Given the description of an element on the screen output the (x, y) to click on. 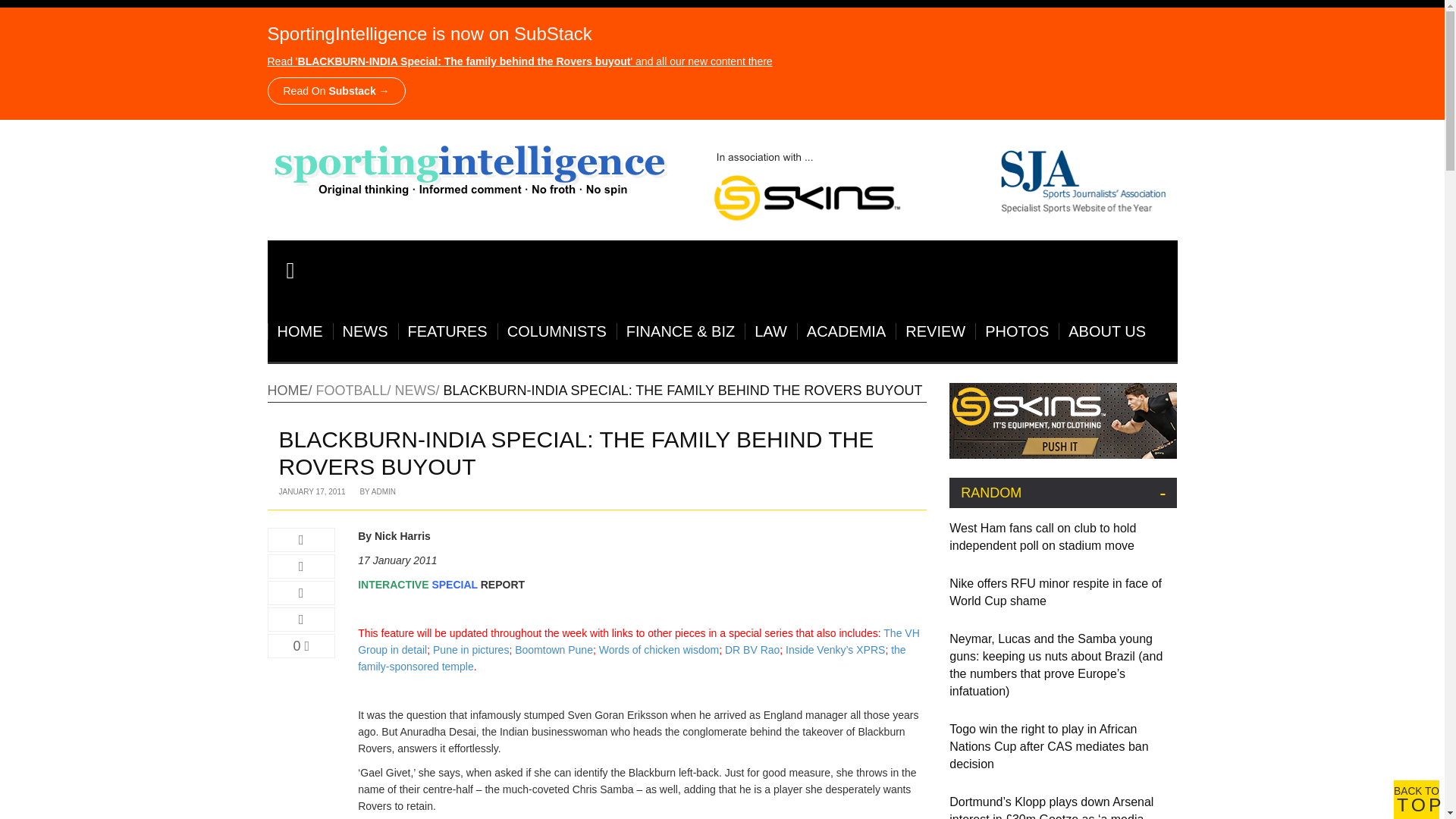
Share this post via Facebook (300, 539)
Share this post via Google plus (300, 592)
admin (383, 491)
Sporting Intelligence (470, 168)
Specialist Sports Website of the Year (935, 182)
Share this post via Pinterest (300, 619)
Share this post via Twitter (300, 566)
